Given the description of an element on the screen output the (x, y) to click on. 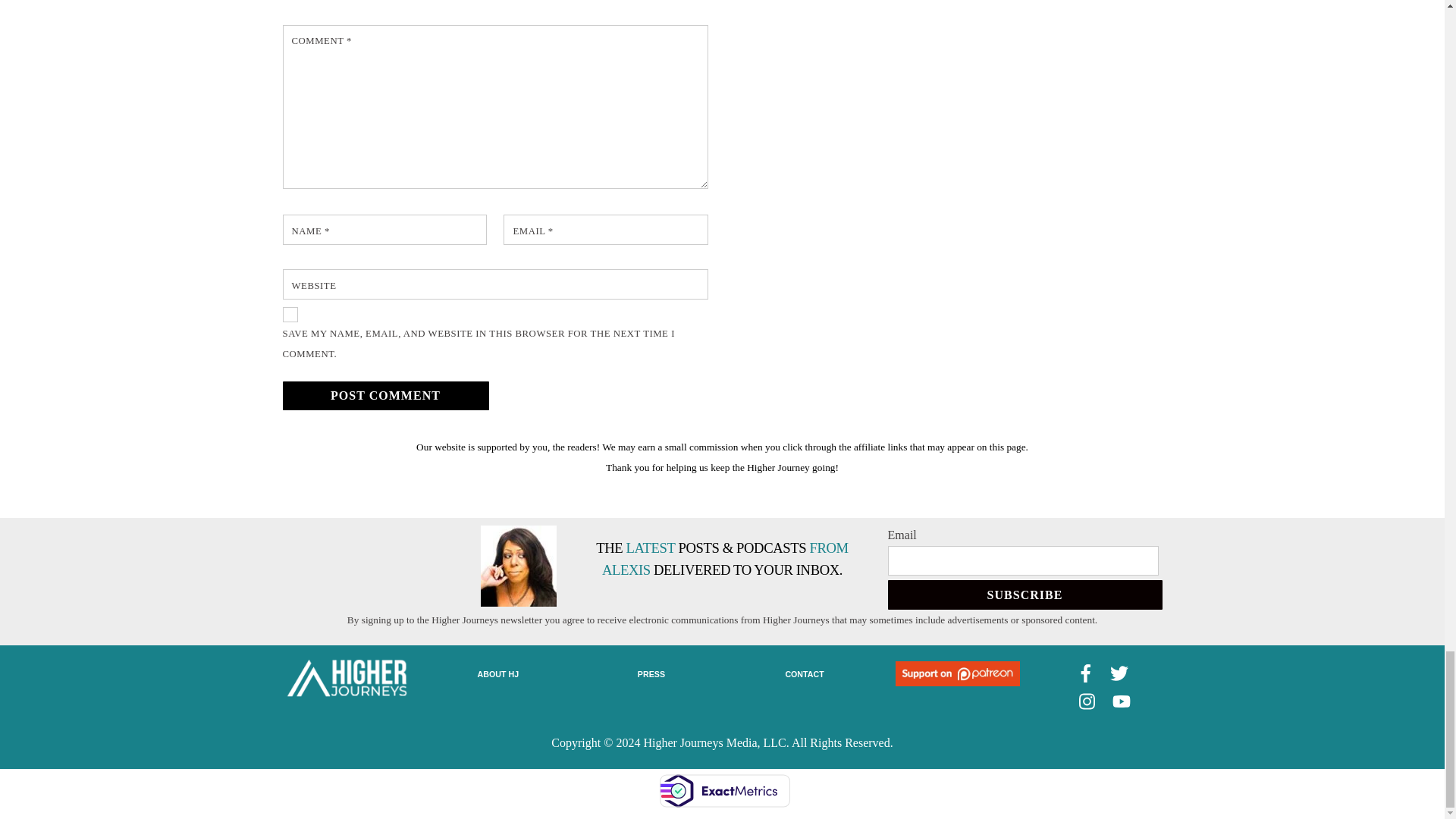
cropped-cropped-HJlogo2021WHITE.png (346, 678)
Post Comment (384, 396)
yes (289, 314)
Verified by ExactMetrics (722, 791)
